Given the description of an element on the screen output the (x, y) to click on. 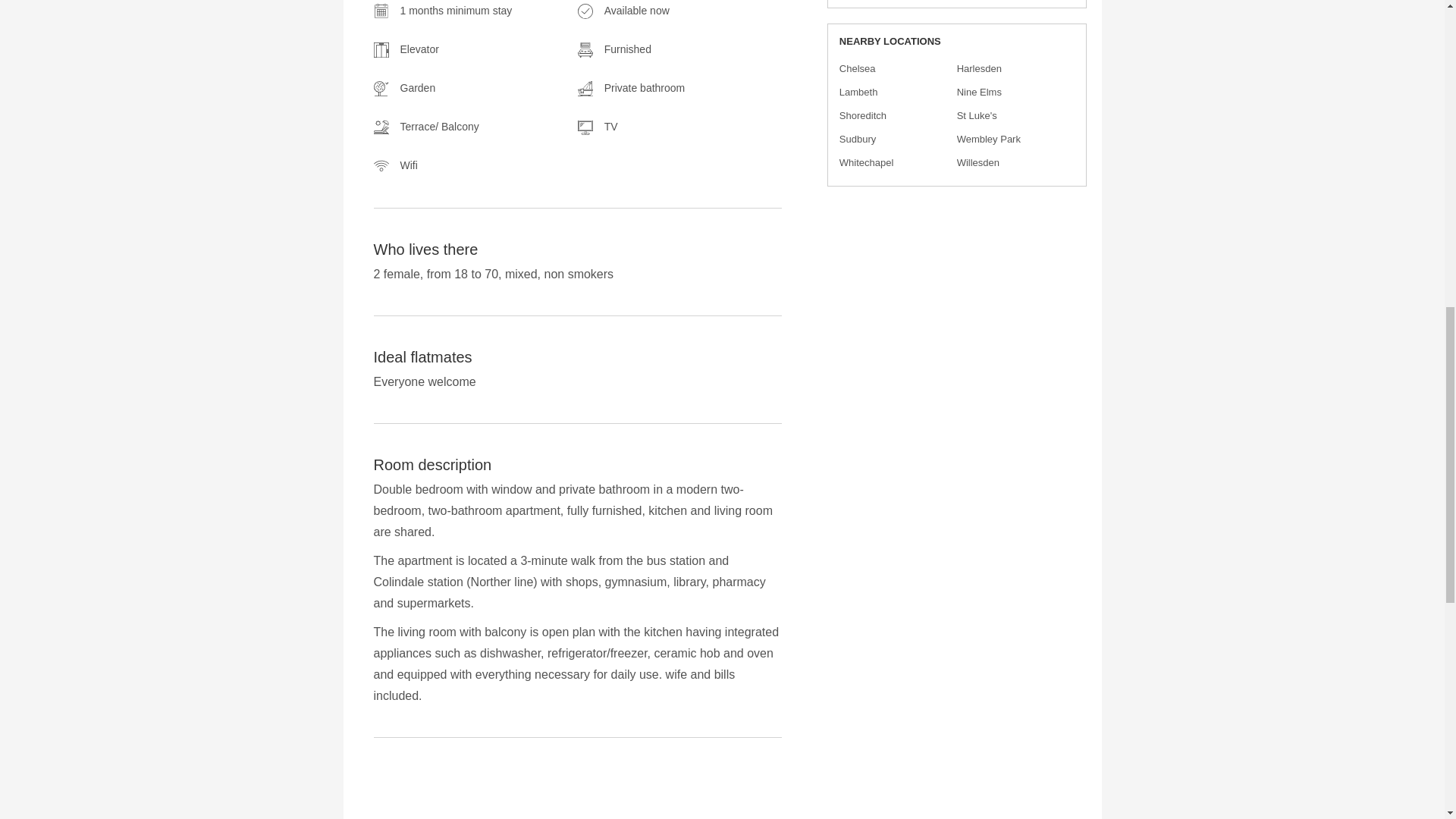
Chelsea (858, 68)
Harlesden (978, 68)
